Given the description of an element on the screen output the (x, y) to click on. 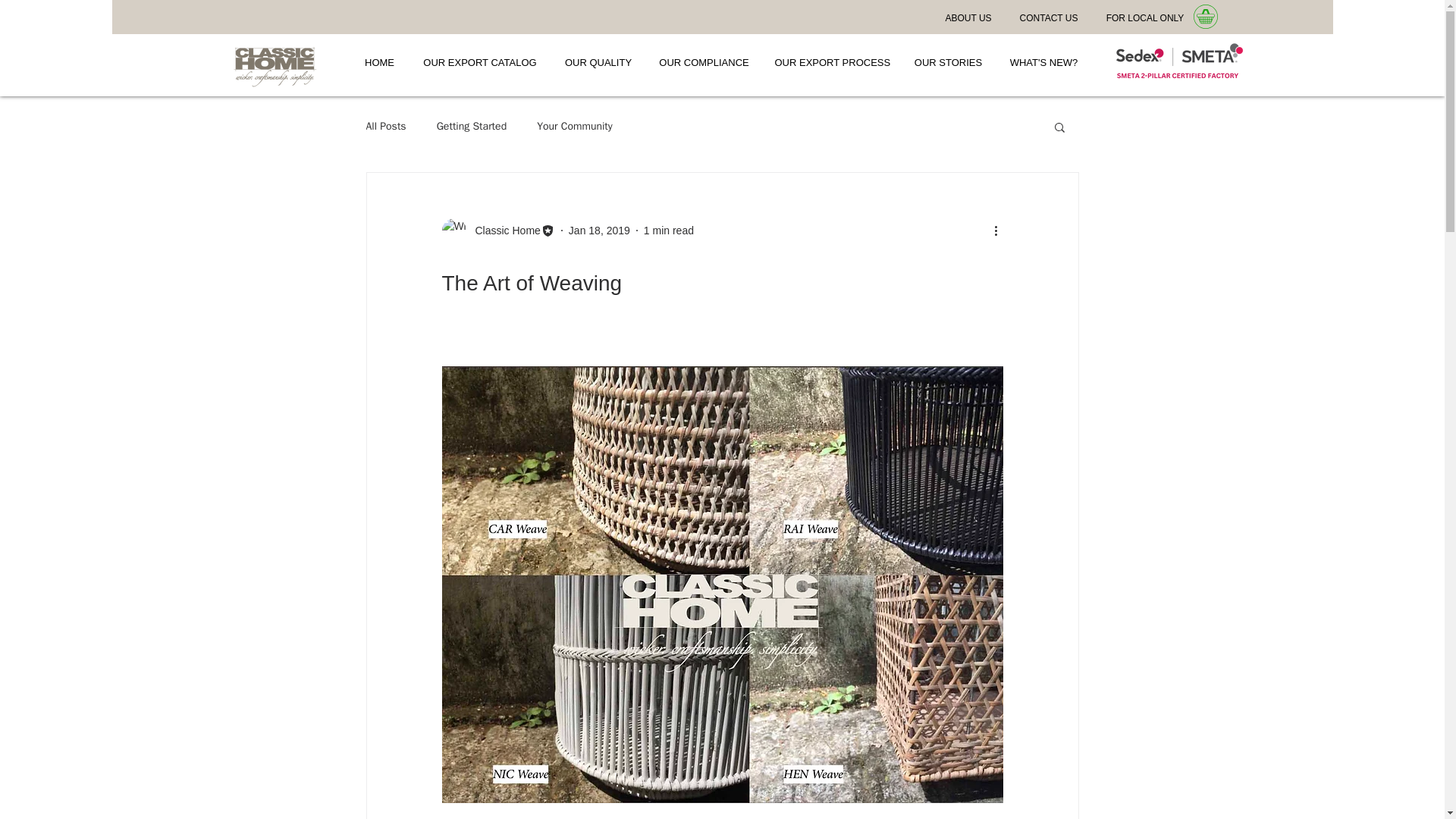
Classic Home (497, 230)
All Posts (385, 126)
CONTACT US (1049, 18)
HOME (378, 62)
OUR EXPORT PROCESS (831, 62)
OUR EXPORT CATALOG (478, 62)
OUR STORIES (947, 62)
OUR COMPLIANCE (703, 62)
WHAT'S NEW? (1043, 62)
Getting Started (471, 126)
OUR QUALITY (597, 62)
ABOUT US (968, 18)
Jan 18, 2019 (599, 230)
FOR LOCAL ONLY (1144, 18)
1 min read (668, 230)
